Given the description of an element on the screen output the (x, y) to click on. 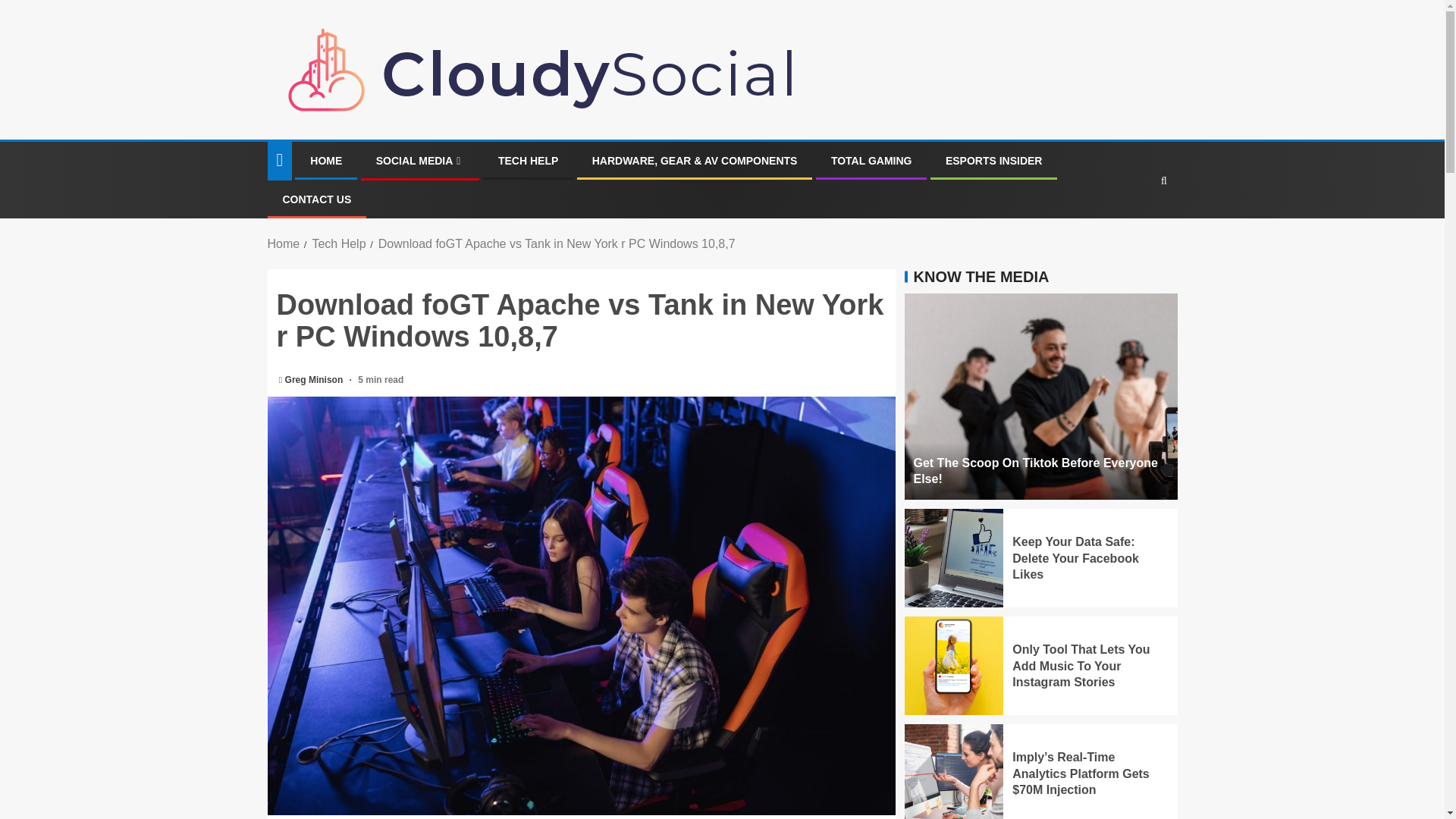
Search (1133, 225)
SOCIAL MEDIA (419, 160)
Tech Help (338, 243)
Greg Minison (315, 379)
TOTAL GAMING (871, 160)
TECH HELP (527, 160)
HOME (326, 160)
Download foGT Apache vs Tank in New York r PC Windows 10,8,7 (556, 243)
ESPORTS INSIDER (993, 160)
Get The Scoop On Tiktok Before Everyone Else! (1034, 470)
Keep Your Data Safe: Delete Your Facebook Likes (1074, 557)
CONTACT US (316, 199)
Only Tool That Lets You Add Music To Your Instagram Stories (1080, 665)
Home (282, 243)
